Given the description of an element on the screen output the (x, y) to click on. 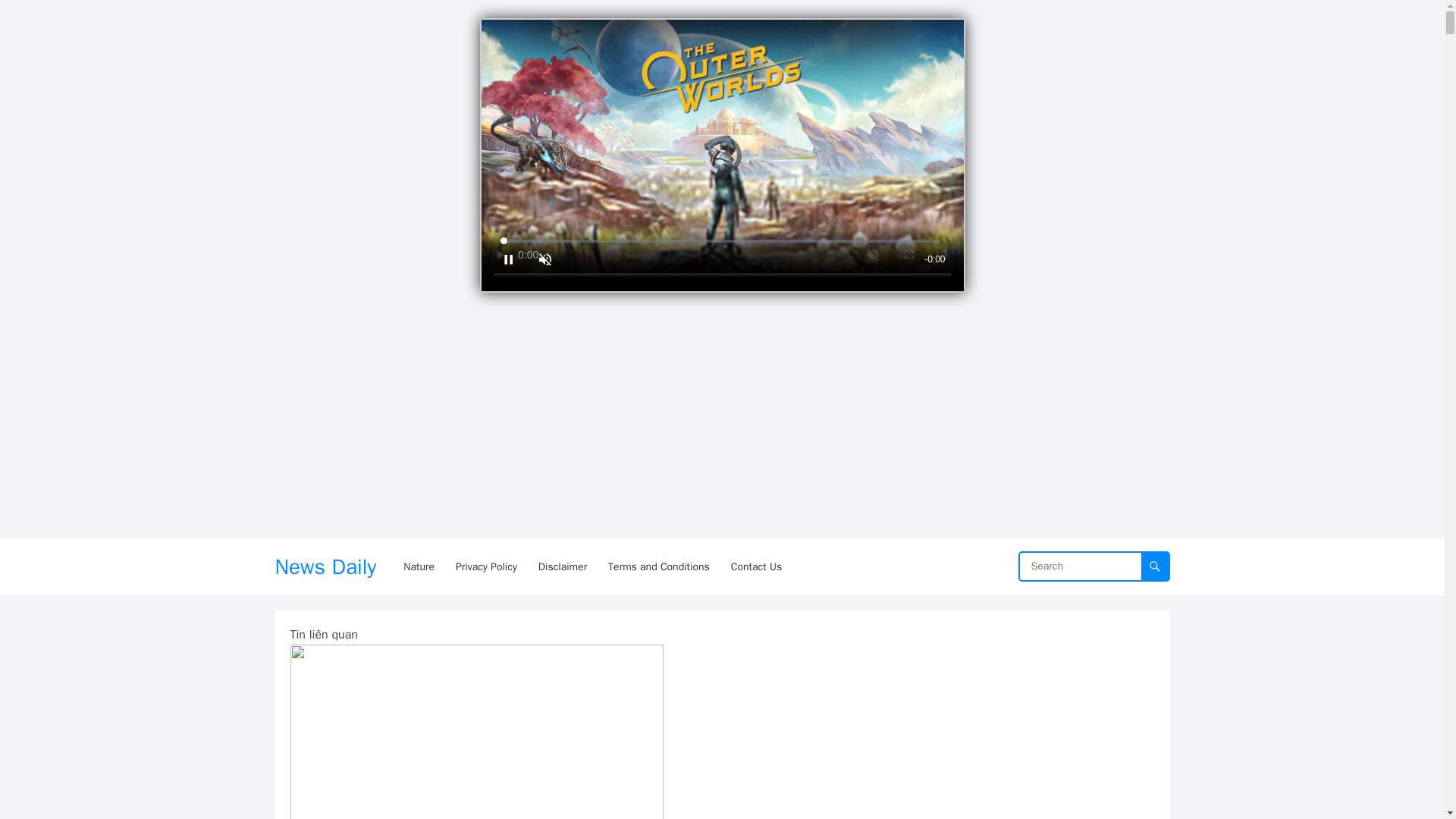
Close (947, 30)
Contact Us (756, 566)
Close (947, 30)
Privacy Policy (485, 566)
Terms and Conditions (658, 566)
News Daily (325, 566)
Disclaimer (562, 566)
